Given the description of an element on the screen output the (x, y) to click on. 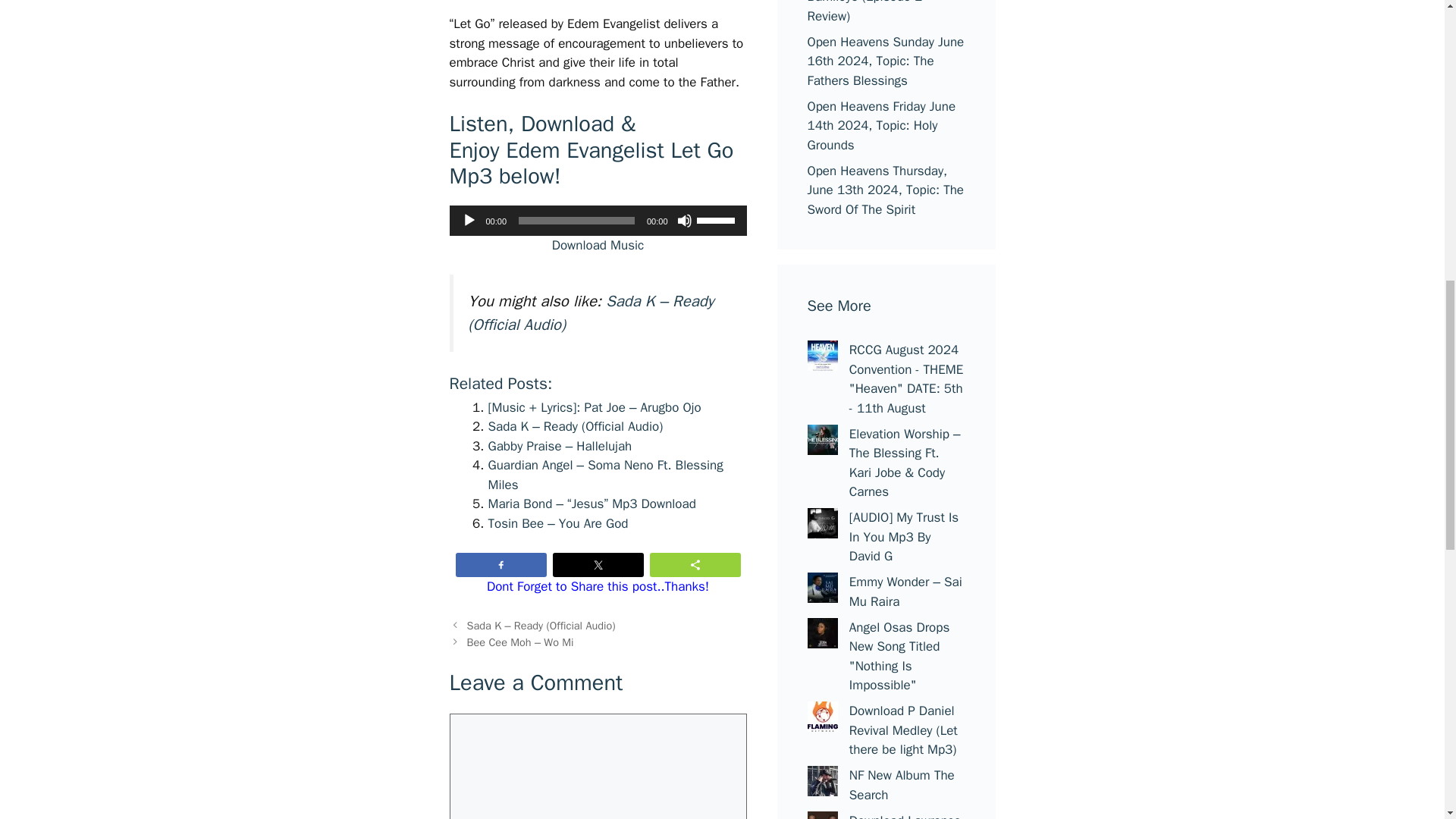
Play (468, 220)
Mute (684, 220)
Download Music (598, 245)
